Given the description of an element on the screen output the (x, y) to click on. 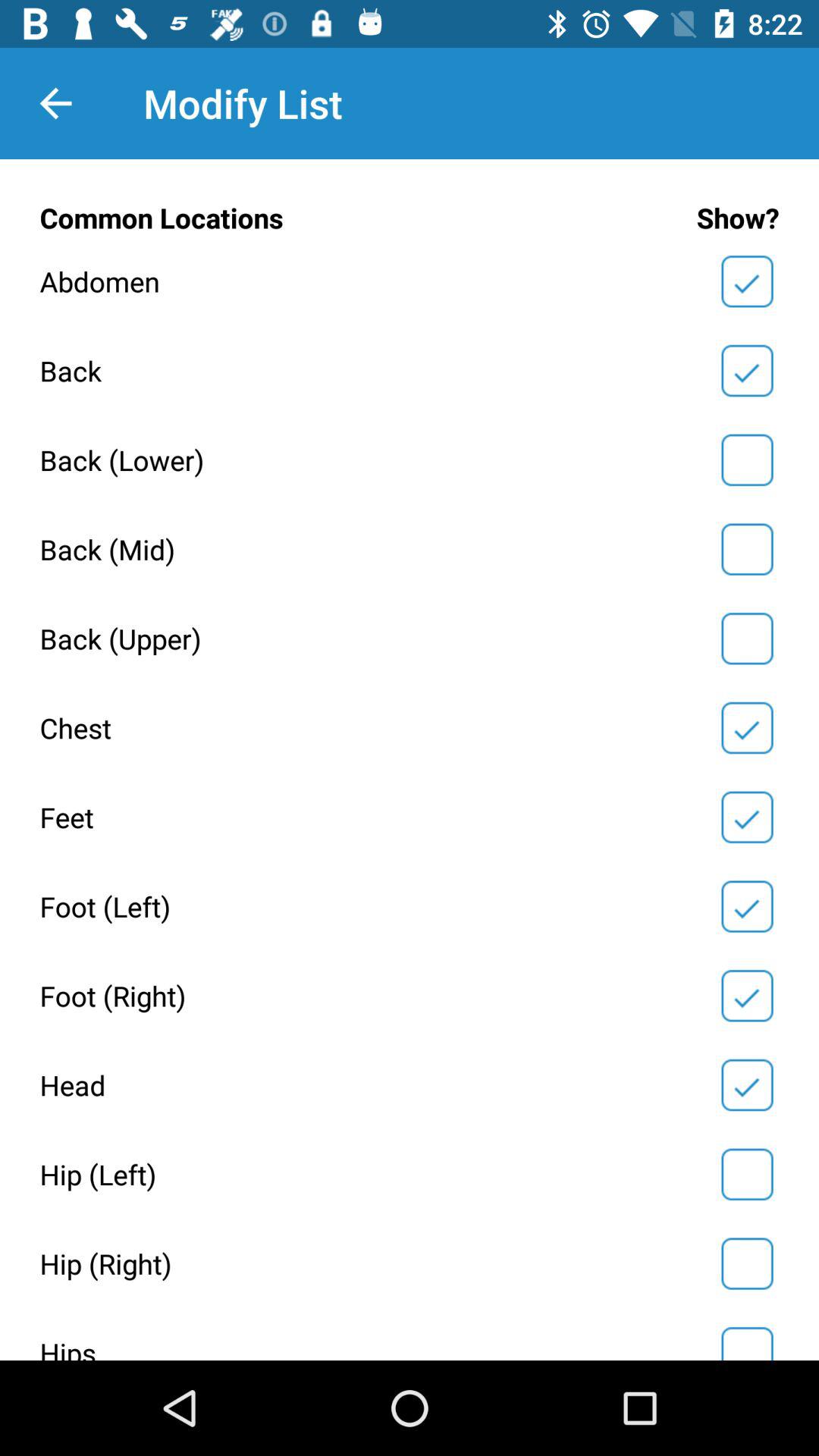
toggle feet (747, 817)
